Given the description of an element on the screen output the (x, y) to click on. 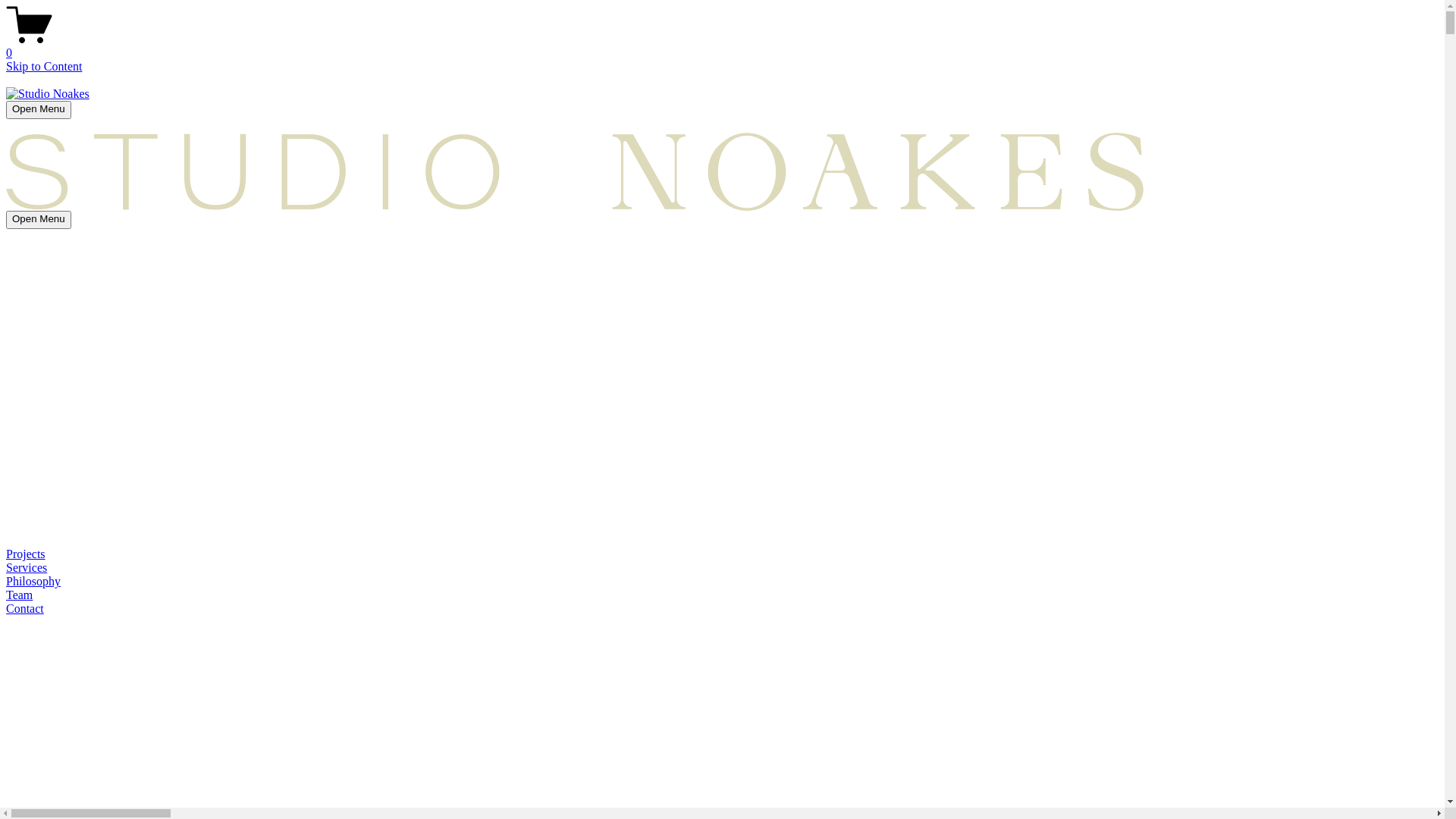
Open Menu Element type: text (38, 109)
Open Menu Element type: text (38, 219)
Projects Element type: text (722, 554)
Services Element type: text (722, 567)
Team Element type: text (722, 595)
0 Element type: text (722, 45)
Contact Element type: text (722, 608)
Skip to Content Element type: text (43, 65)
Philosophy Element type: text (722, 581)
